Given the description of an element on the screen output the (x, y) to click on. 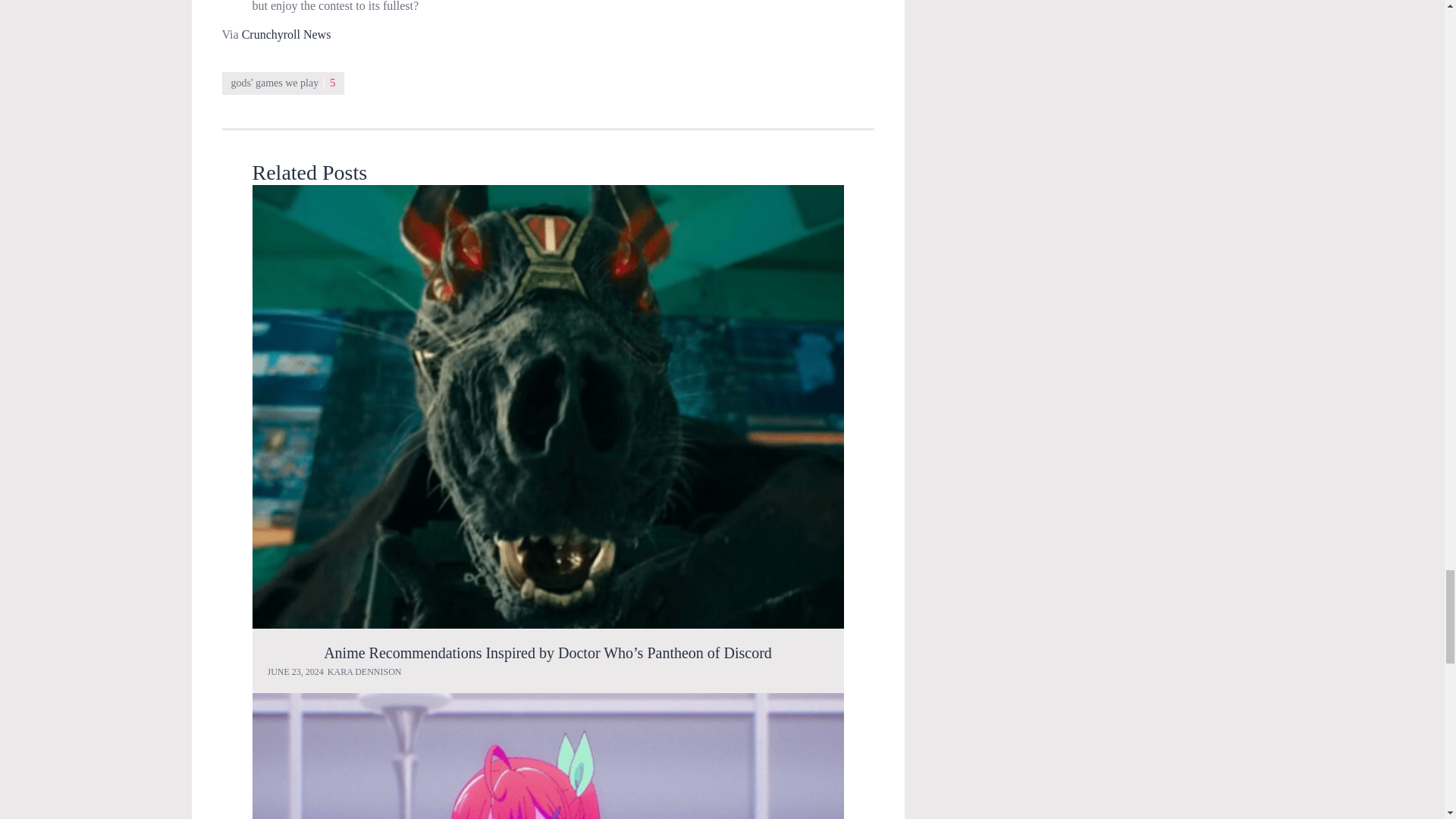
These Anime Girls Are Also Irresponsible Gods (547, 755)
gods' games we play 5 (282, 83)
Crunchyroll News (286, 33)
